Given the description of an element on the screen output the (x, y) to click on. 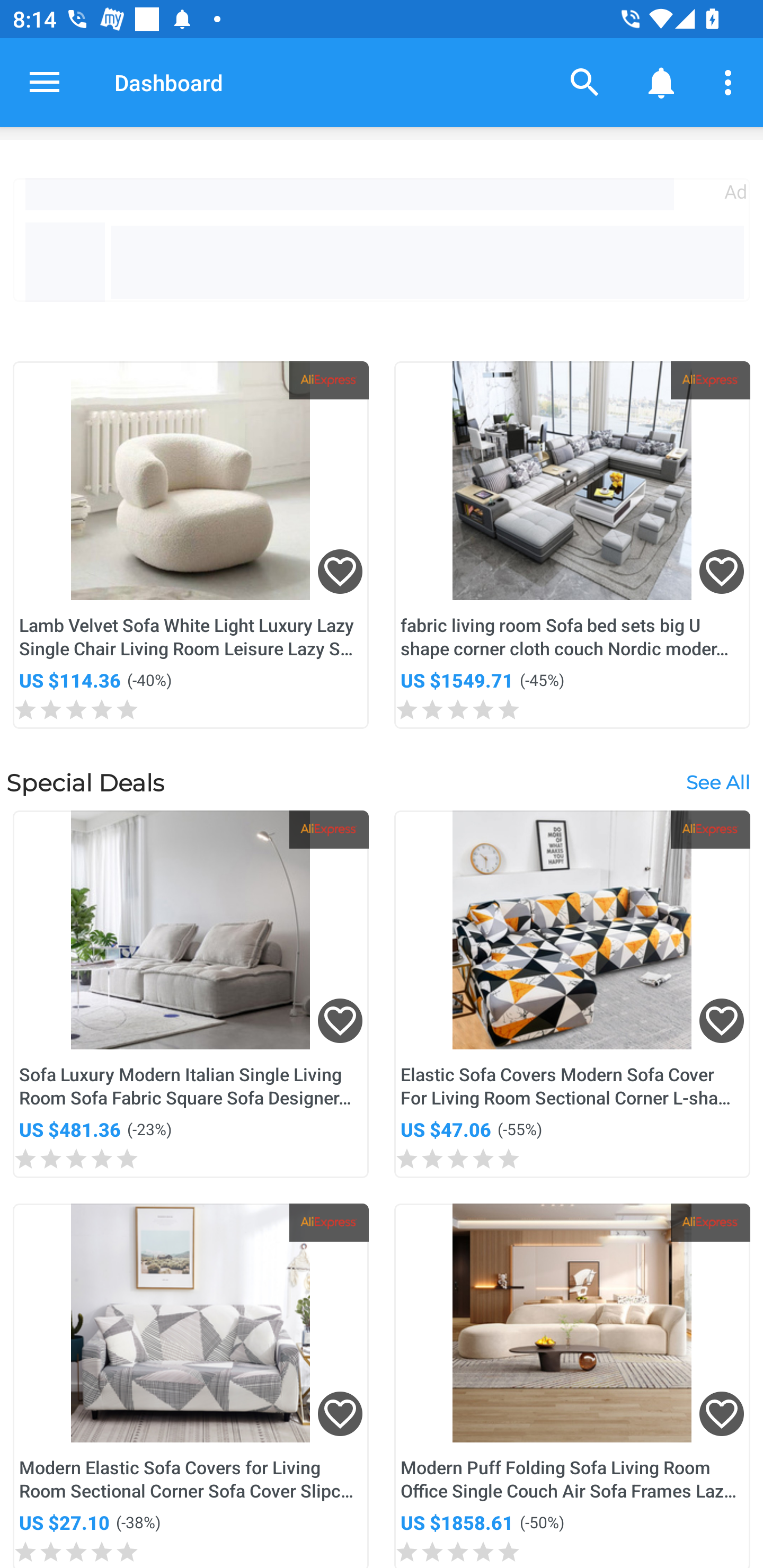
Open navigation drawer (44, 82)
Search (585, 81)
More options (731, 81)
See All (717, 781)
